Given the description of an element on the screen output the (x, y) to click on. 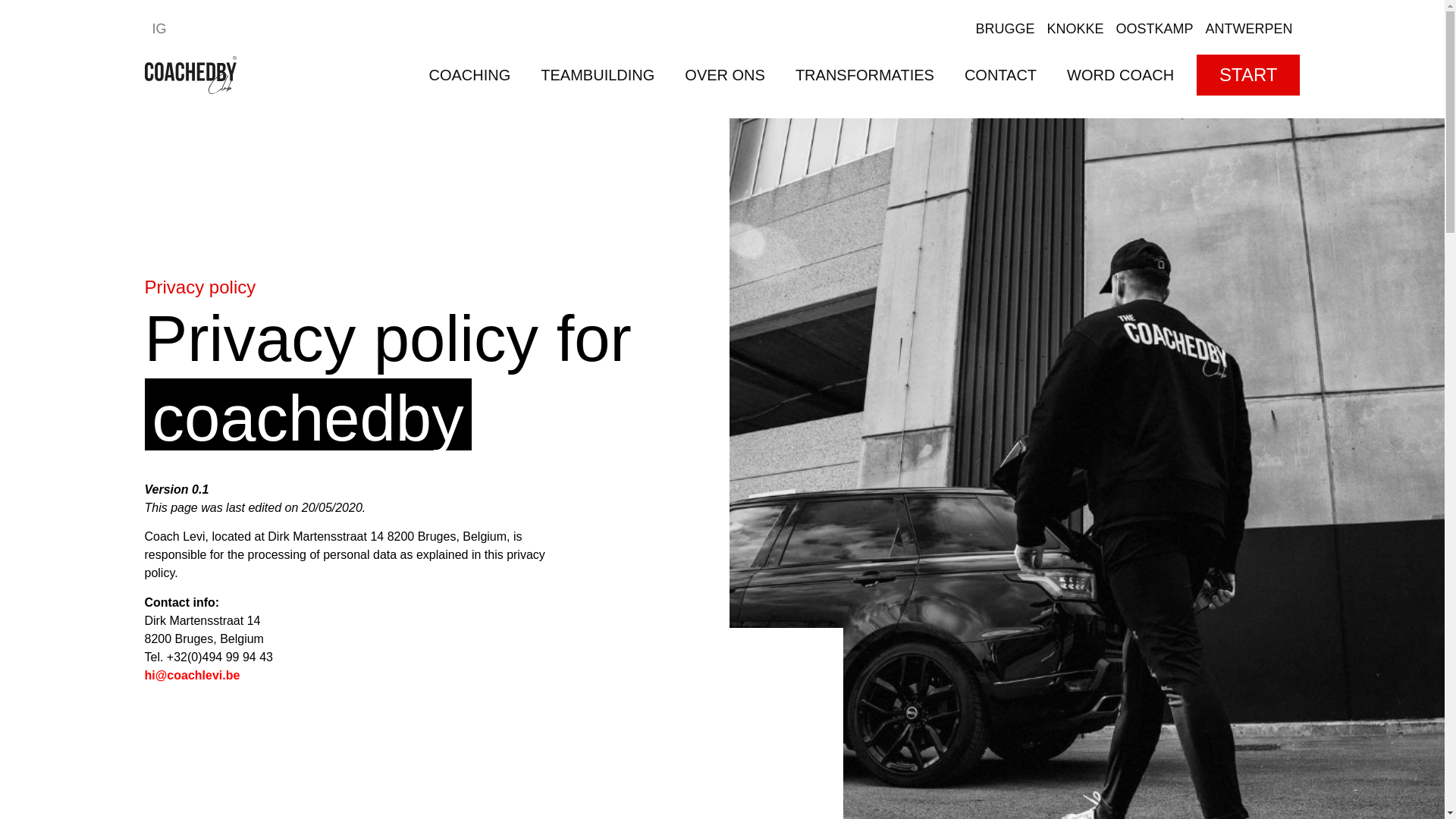
START (1248, 74)
COACHING (469, 74)
CONTACT (1000, 74)
ANTWERPEN (1248, 28)
WORD COACH (1120, 74)
KNOKKE (1074, 28)
OOSTKAMP (1153, 28)
TRANSFORMATIES (864, 74)
BRUGGE (1004, 28)
TEAMBUILDING (597, 74)
